Given the description of an element on the screen output the (x, y) to click on. 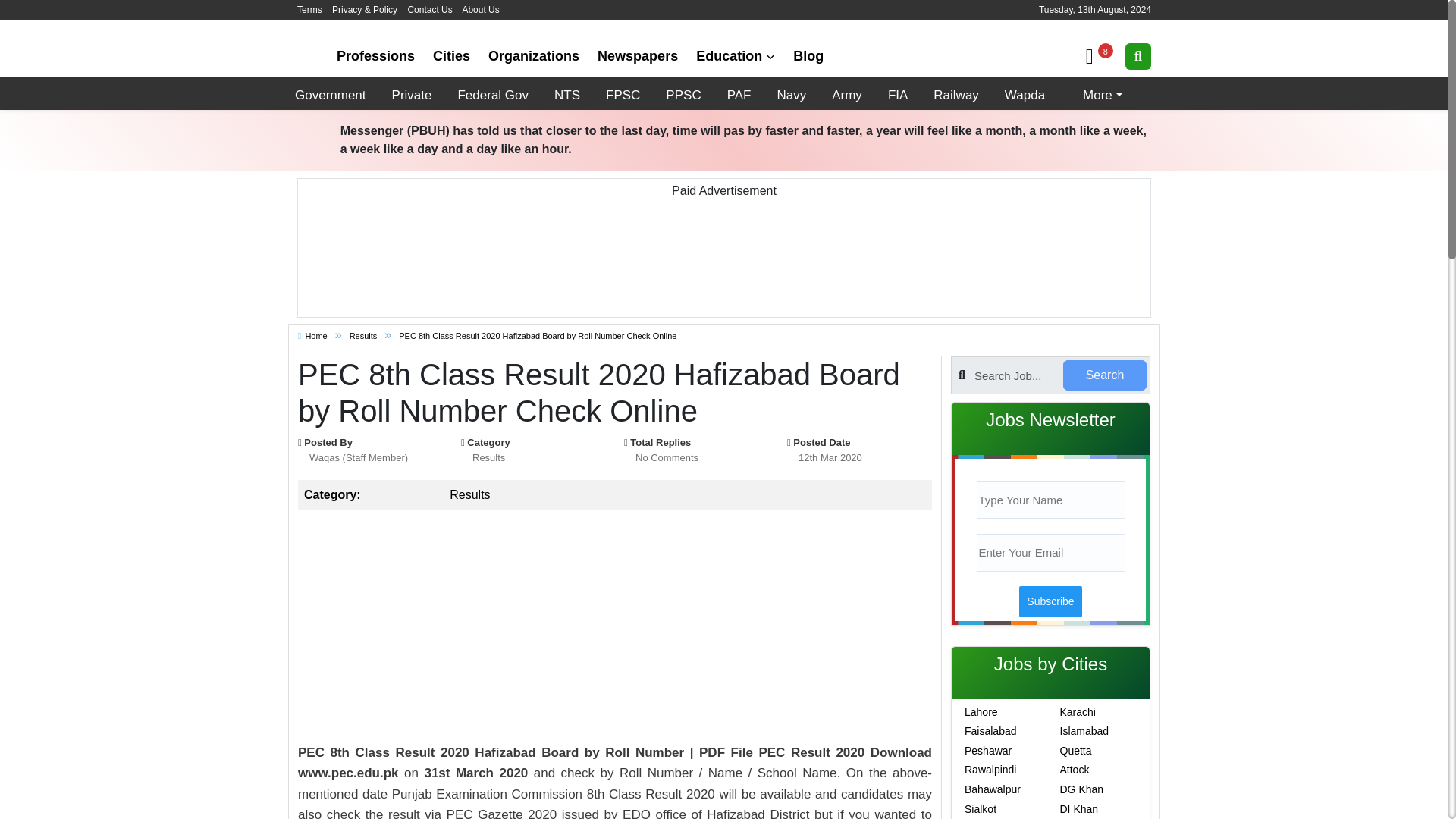
Organizations (533, 56)
About Us (480, 9)
Pakistan Railway Jobs (955, 92)
Join Pak Army Jobs (847, 92)
Federal Public Service Commission Jobs (622, 92)
Pakistan Air Force Jobs (739, 92)
Cities (451, 56)
Professions (375, 56)
Blog (808, 56)
Newspapers (637, 56)
